Given the description of an element on the screen output the (x, y) to click on. 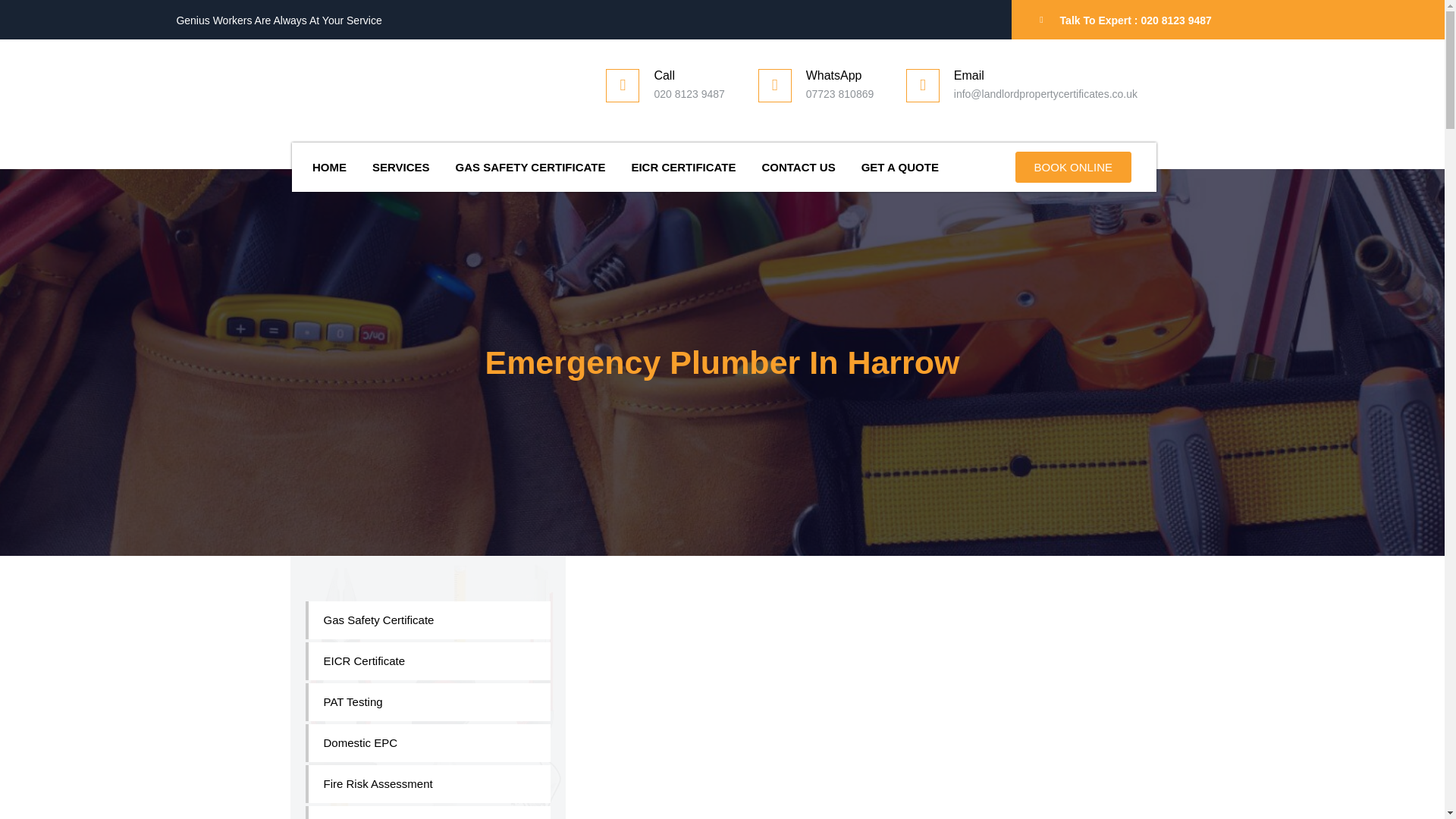
Call (664, 74)
CONTACT US (797, 167)
EICR CERTIFICATE (682, 167)
020 8123 9487 (1175, 20)
HOME (329, 167)
GET A QUOTE (900, 167)
BOOK ONLINE (1072, 166)
SERVICES (400, 167)
WhatsApp (833, 74)
GAS SAFETY CERTIFICATE (530, 167)
